Given the description of an element on the screen output the (x, y) to click on. 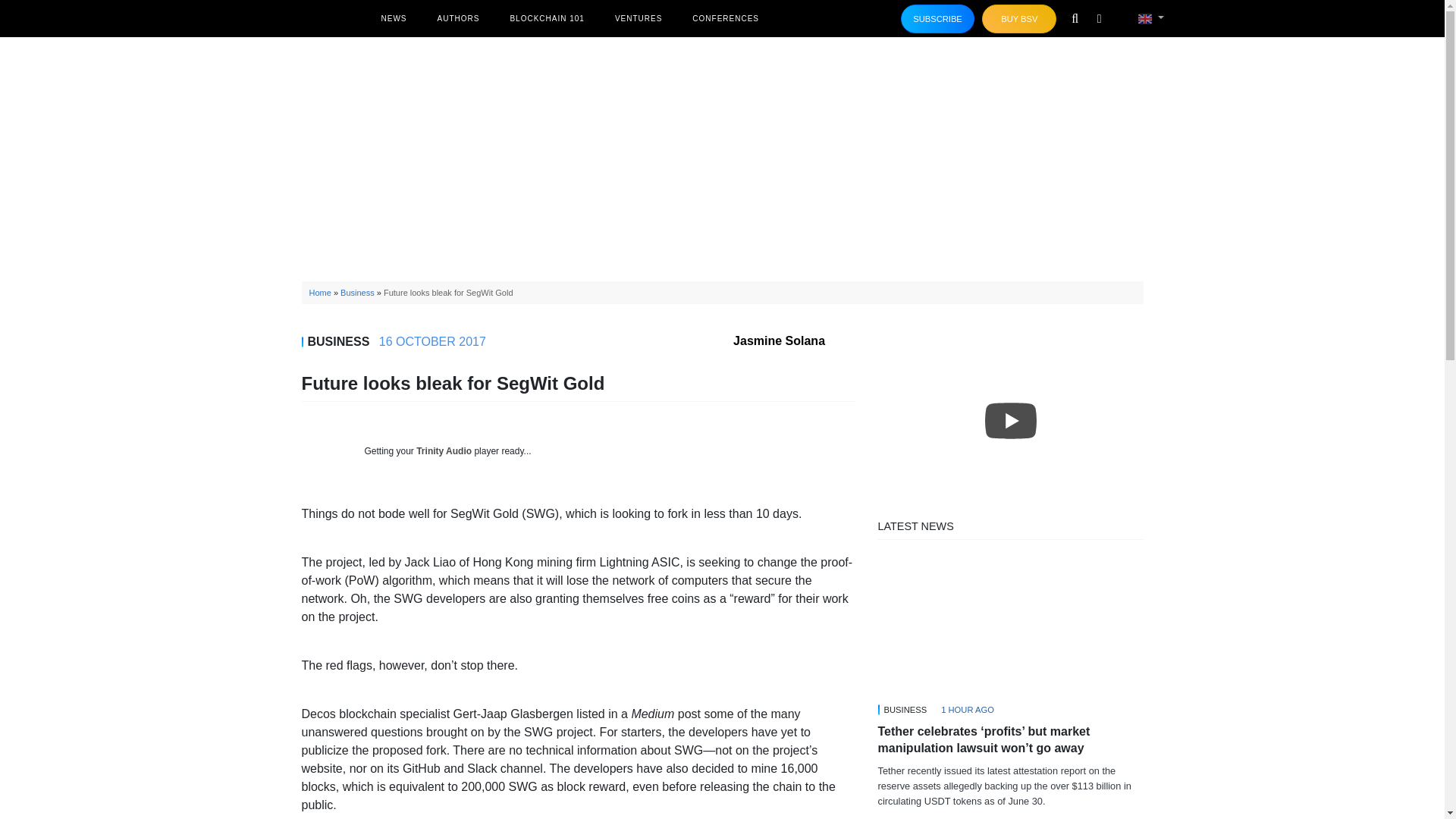
Never miss an update again! Subscribe to Newsletter! (938, 18)
BLOCKCHAIN 101 (546, 18)
Home (319, 292)
Business (357, 292)
AUTHORS (457, 18)
Jasmine Solana (793, 340)
BUY BSV (1019, 18)
NEWS (392, 18)
SUBSCRIBE (938, 18)
Trinity Audio (443, 450)
CONFERENCES (725, 18)
VENTURES (638, 18)
